Given the description of an element on the screen output the (x, y) to click on. 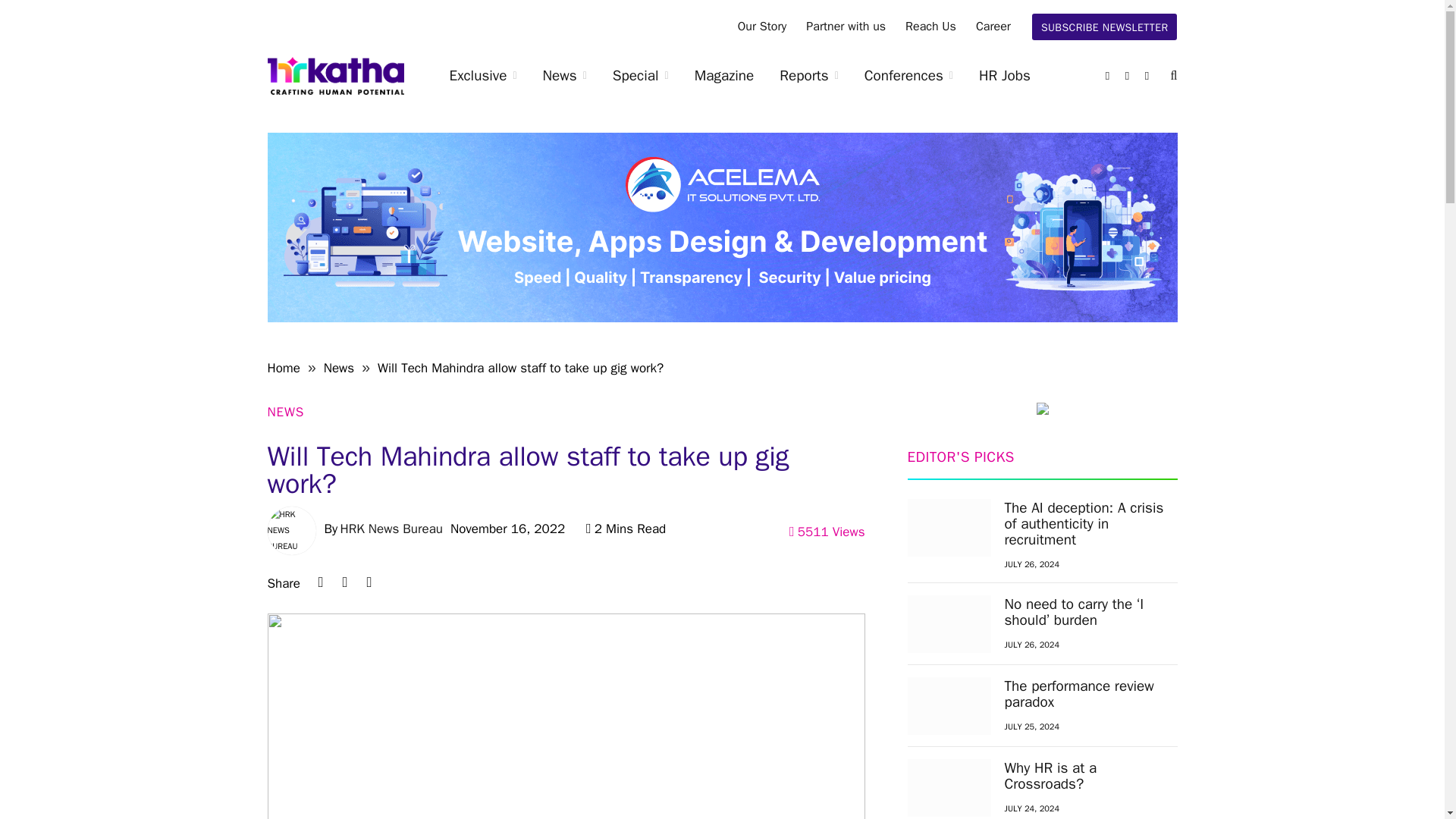
HR Katha (334, 76)
Special (640, 75)
Exclusive (482, 75)
Partner with us (845, 26)
Will Tech Mahindra allow staff to take up gig work? (565, 716)
Share on LinkedIn (319, 582)
Posts by HRK News Bureau (390, 528)
Share on Facebook (369, 582)
Reach Us (930, 26)
Our Story (762, 26)
SUBSCRIBE NEWSLETTER (1104, 26)
Search (1172, 75)
News (564, 75)
Career (993, 26)
